Given the description of an element on the screen output the (x, y) to click on. 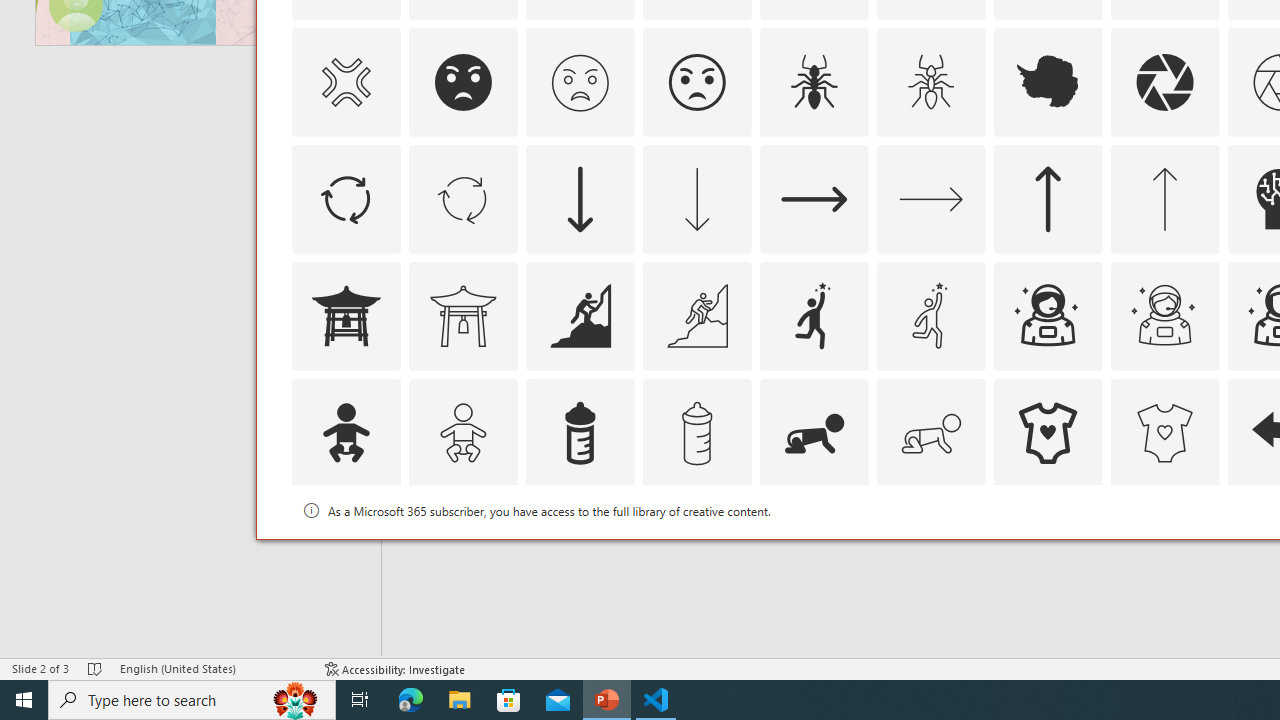
AutomationID: Icons_Aperture (1164, 82)
